Given the description of an element on the screen output the (x, y) to click on. 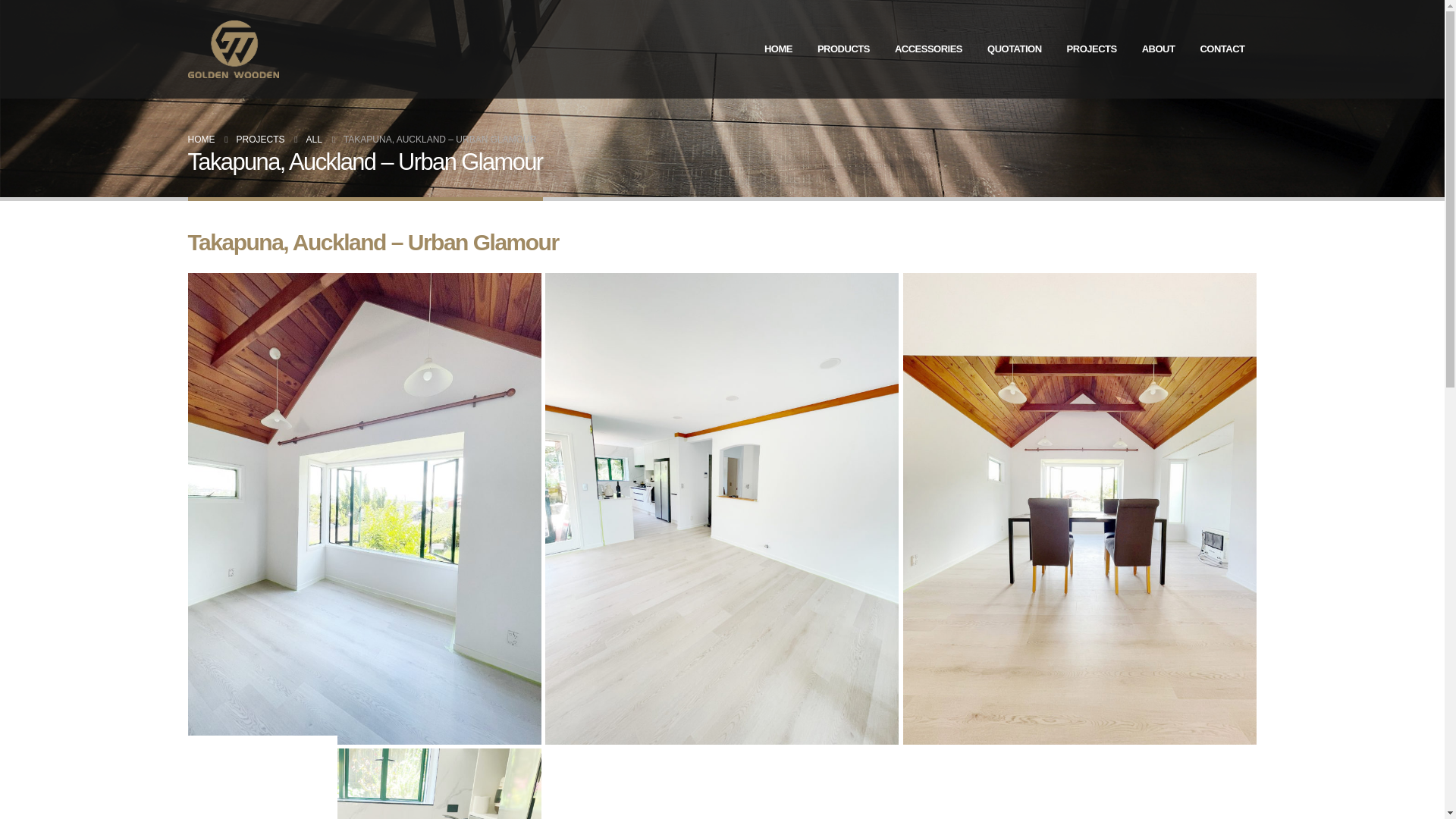
PROJECTS (1091, 48)
ACCESSORIES (928, 48)
PROJECTS (260, 139)
Go to Home Page (201, 139)
HOME (201, 139)
CONTACT (1222, 48)
PRODUCTS (843, 48)
QUOTATION (1014, 48)
